Given the description of an element on the screen output the (x, y) to click on. 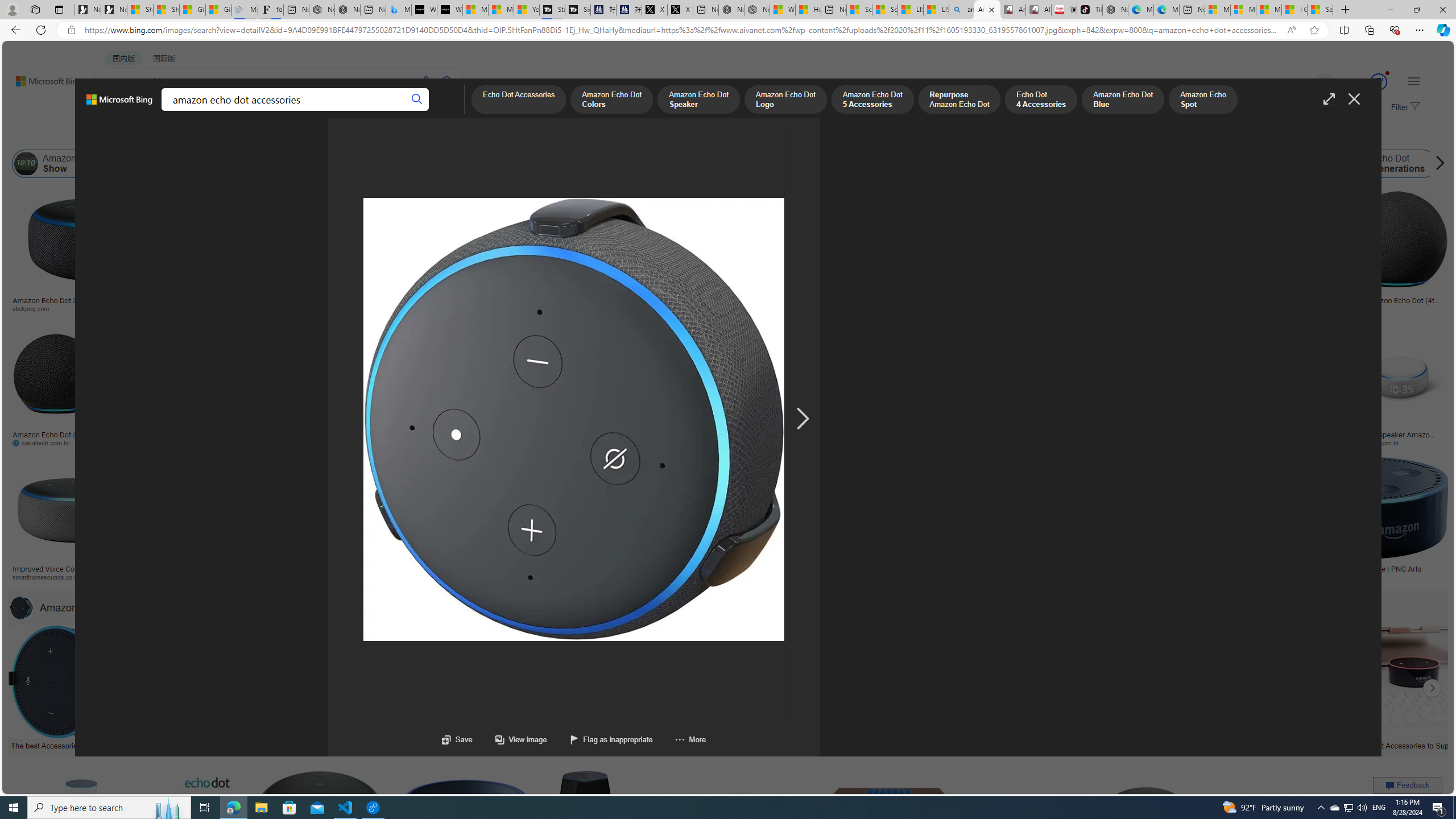
WEB (114, 111)
Smart Speaker Alexa (565, 296)
FrAndroid (431, 308)
Amazon Echo Show (25, 163)
DICT (357, 111)
See more (812, 608)
Microsoft account | Privacy (1242, 9)
